Given the description of an element on the screen output the (x, y) to click on. 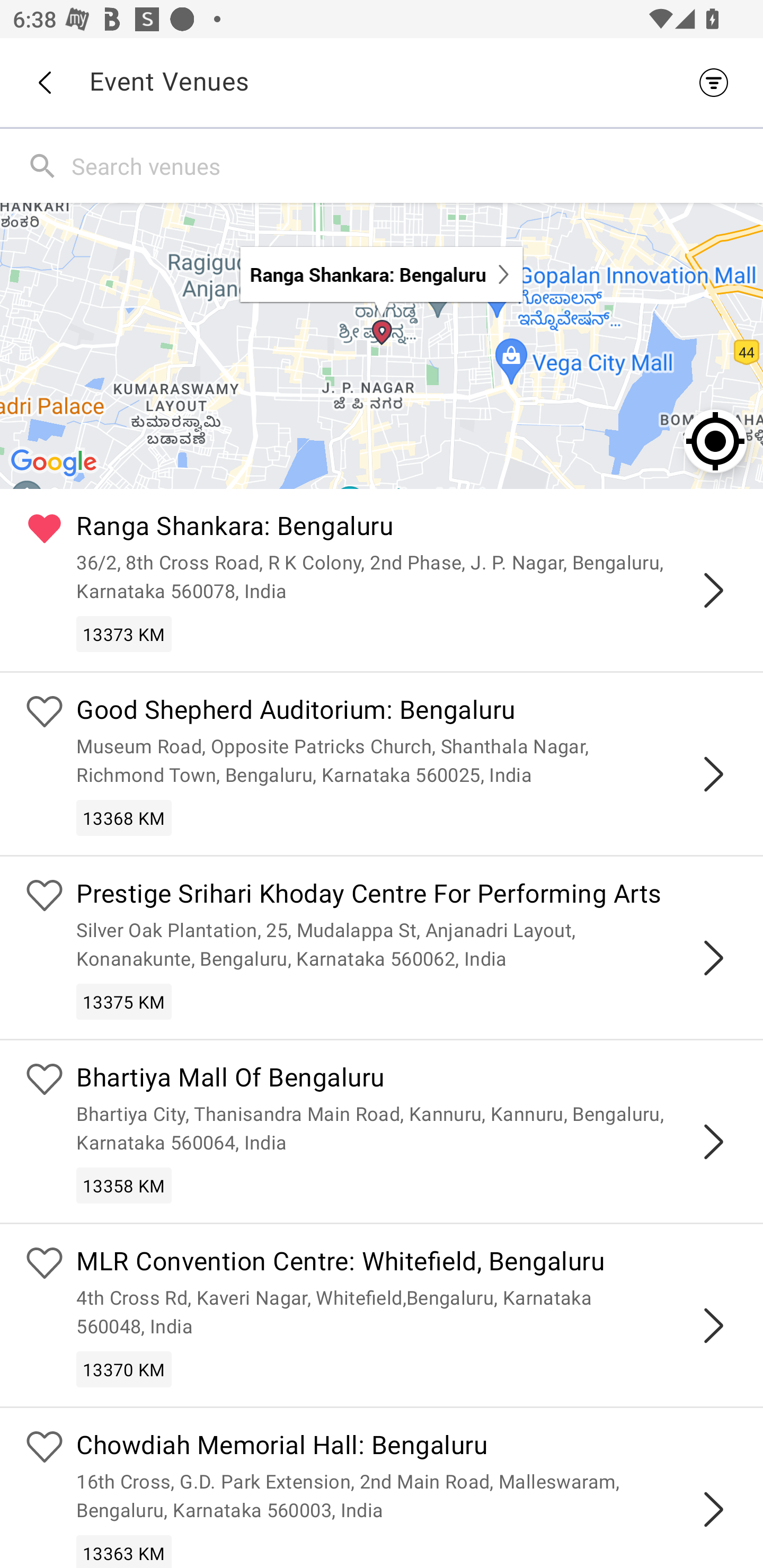
Back Event Venues Filter (381, 82)
Filter (718, 82)
Back (44, 82)
Search venues (413, 165)
Google Map Ranga Shankara: Bengaluru (381, 345)
Ranga Shankara: Bengaluru (406, 528)
 (713, 590)
13373 KM (123, 634)
Good Shepherd Auditorium: Bengaluru (406, 711)
 (713, 773)
13368 KM (123, 817)
Prestige Srihari Khoday Centre For Performing Arts (406, 894)
 (713, 957)
13375 KM (123, 1001)
Bhartiya Mall Of Bengaluru (406, 1079)
 (713, 1141)
13358 KM (123, 1186)
MLR Convention Centre: Whitefield, Bengaluru (406, 1263)
 (713, 1325)
13370 KM (123, 1369)
Chowdiah Memorial Hall: Bengaluru (406, 1446)
 (713, 1508)
13363 KM (123, 1551)
